Given the description of an element on the screen output the (x, y) to click on. 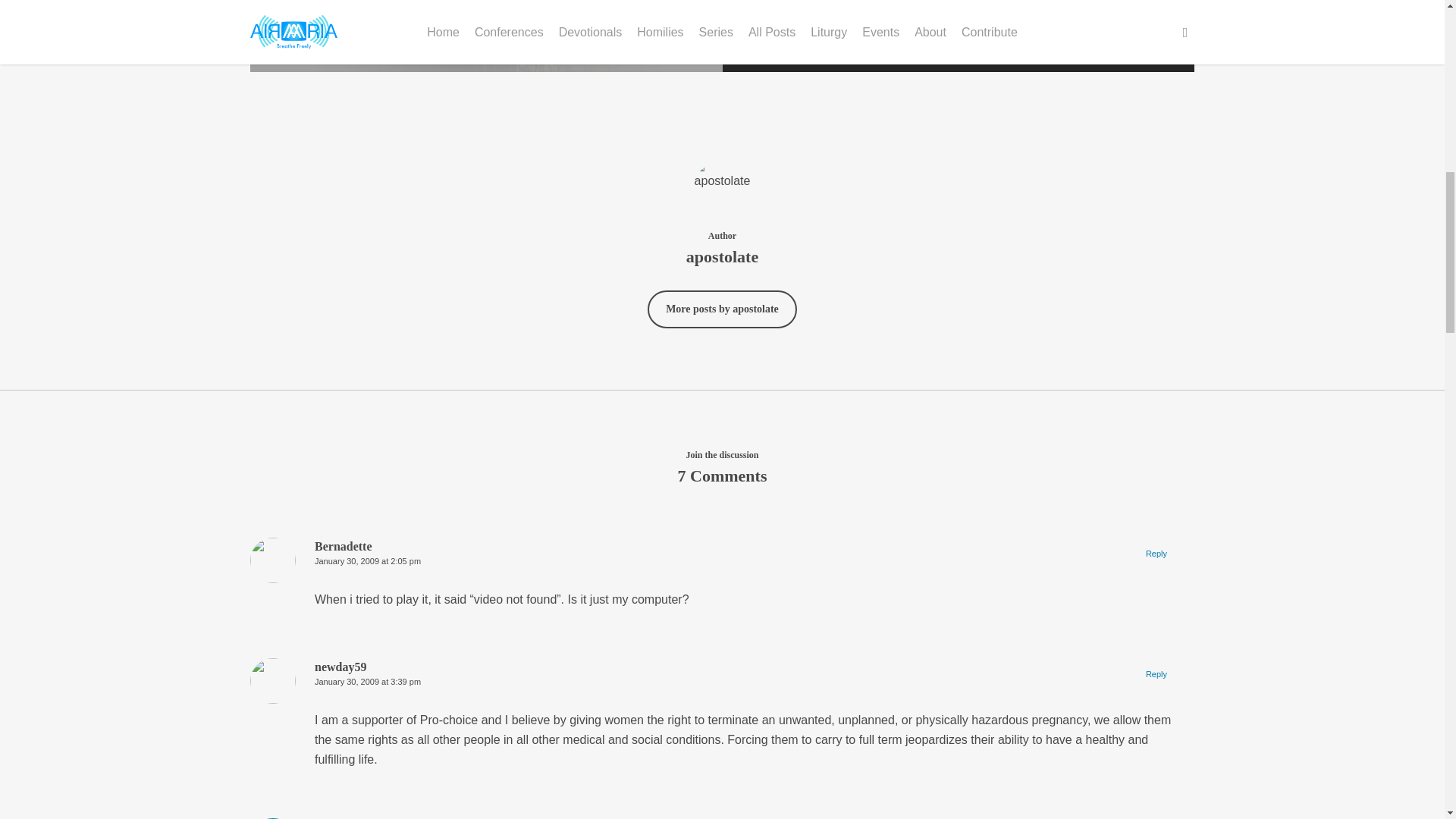
Reply (1156, 673)
January 30, 2009 at 3:39 pm (367, 681)
January 30, 2009 at 2:05 pm (367, 560)
Reply (1156, 553)
More posts by apostolate (721, 309)
